Given the description of an element on the screen output the (x, y) to click on. 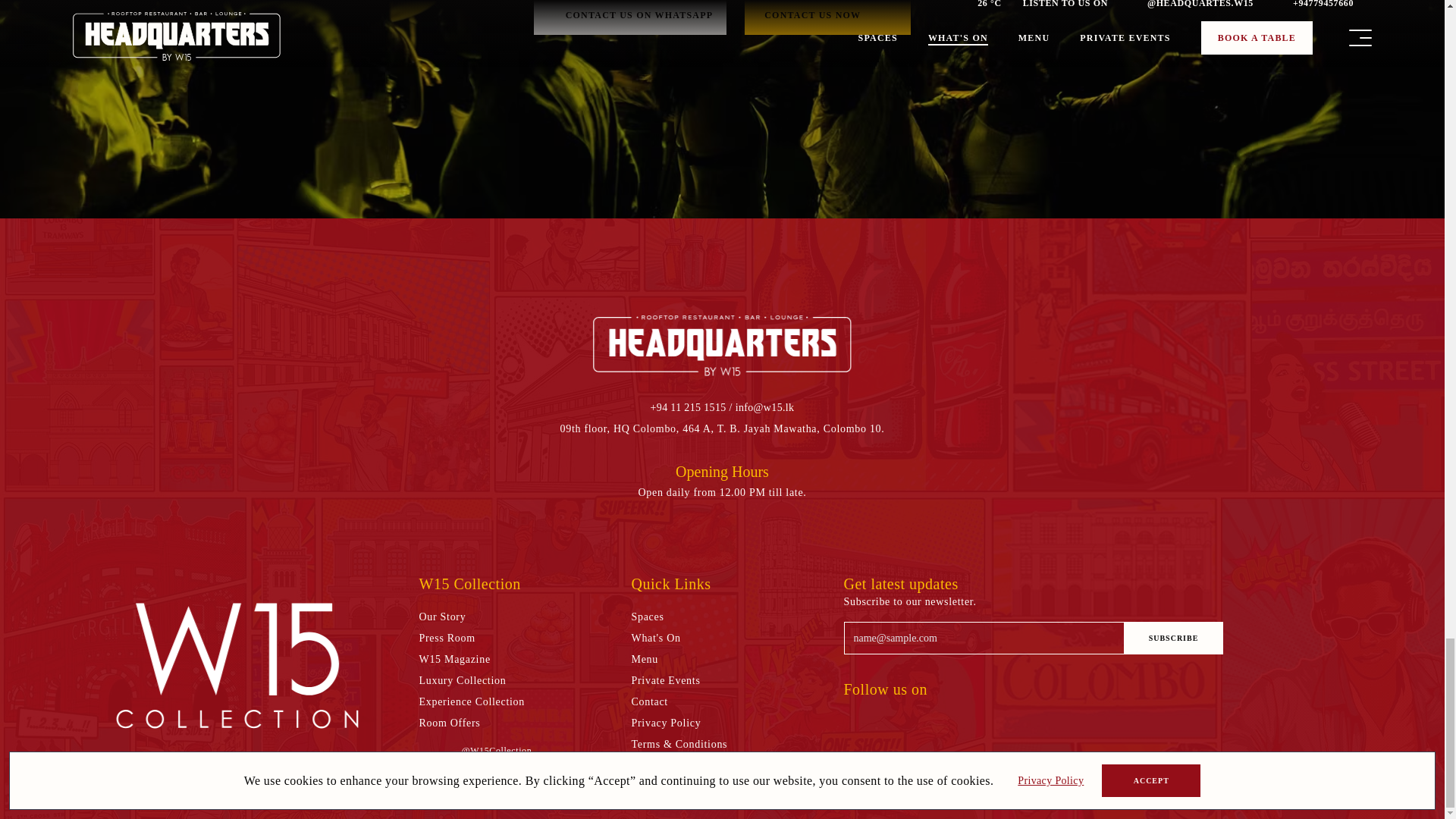
Menu (644, 659)
Spaces (646, 616)
CONTACT US ON WHATSAPP (630, 17)
CONTACT US NOW (827, 17)
Contact (648, 702)
Privacy Policy (665, 723)
SUBSCRIBE (1173, 637)
Our Story (442, 616)
Press Room (446, 638)
